Given the description of an element on the screen output the (x, y) to click on. 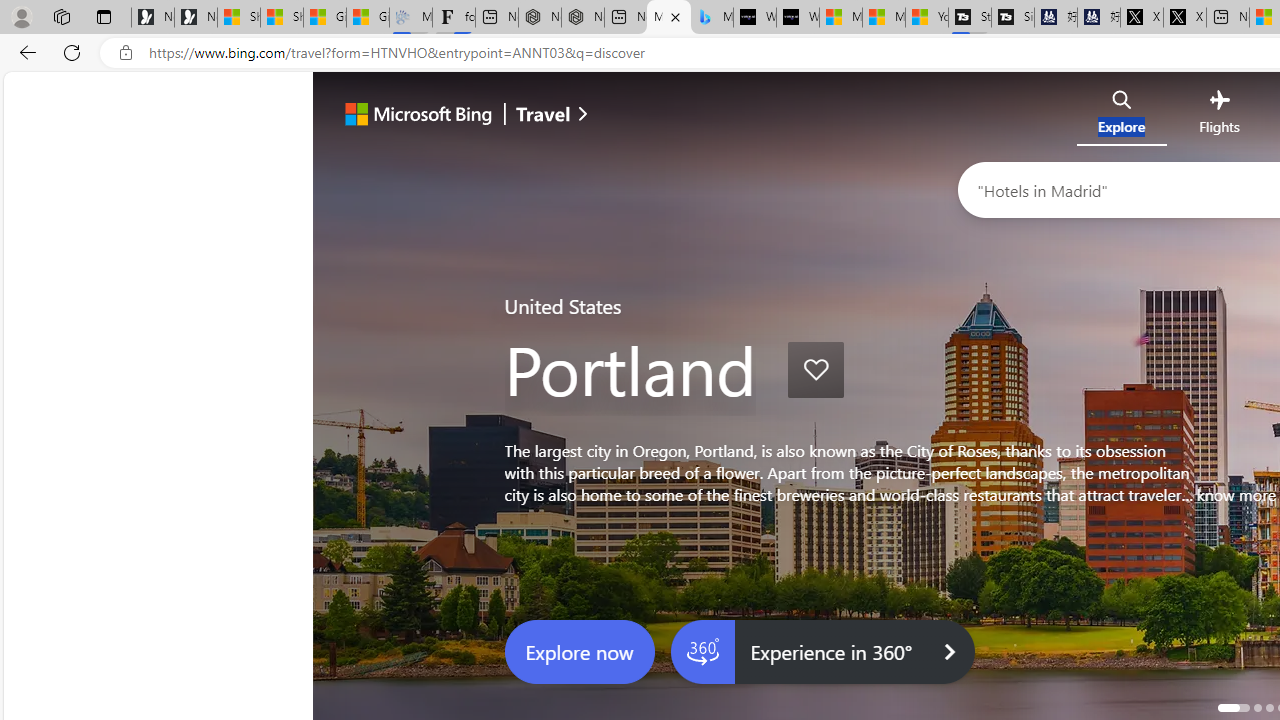
Flights (1218, 116)
Microsoft Bing Travel (668, 17)
Go to previous slide (368, 413)
Gilma and Hector both pose tropical trouble for Hawaii (367, 17)
Newsletter Sign Up (196, 17)
Nordace - #1 Japanese Best-Seller - Siena Smart Backpack (582, 17)
